Given the description of an element on the screen output the (x, y) to click on. 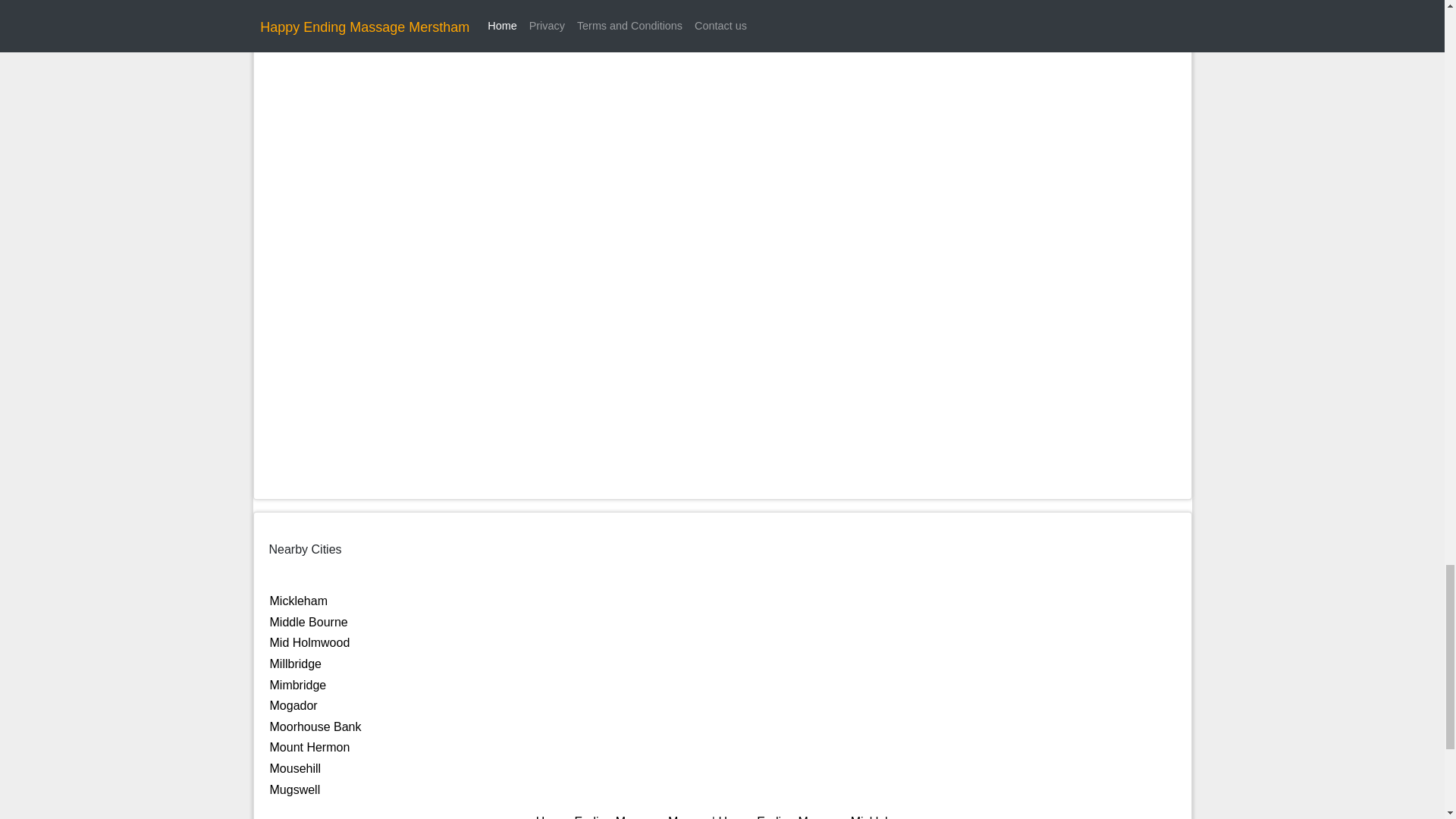
Mugswell (294, 789)
Mickleham (298, 600)
Mid Holmwood (309, 642)
Happy Ending Massage Mickleham (812, 816)
Middle Bourne (308, 621)
Mimbridge (297, 684)
Mogador (293, 705)
Mount Hermon (309, 747)
Moorhouse Bank (315, 726)
Happy Ending Massage Merrow (622, 816)
Millbridge (295, 663)
Mousehill (295, 768)
